Given the description of an element on the screen output the (x, y) to click on. 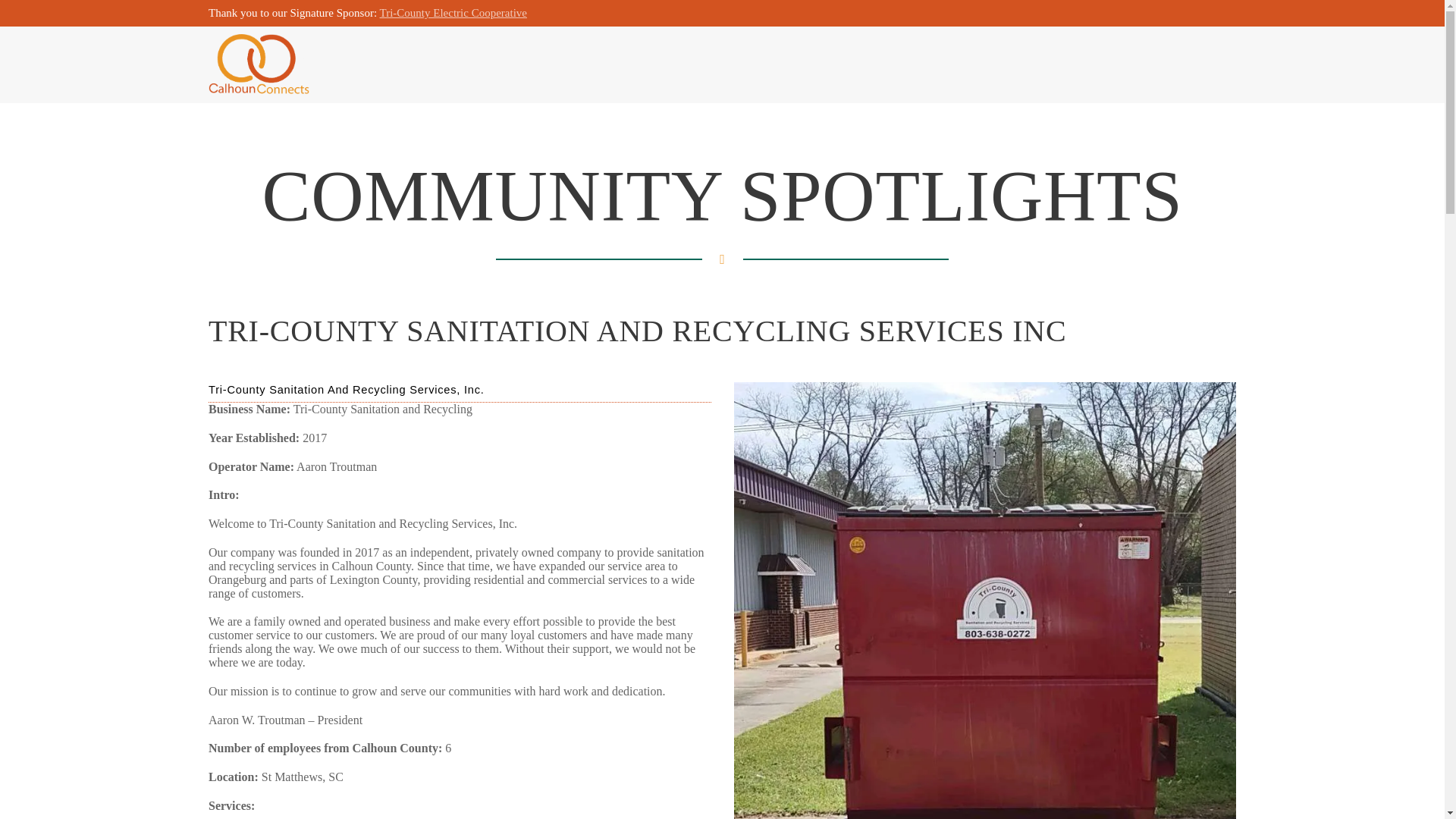
Tri-County Electric Cooperative (453, 12)
